Given the description of an element on the screen output the (x, y) to click on. 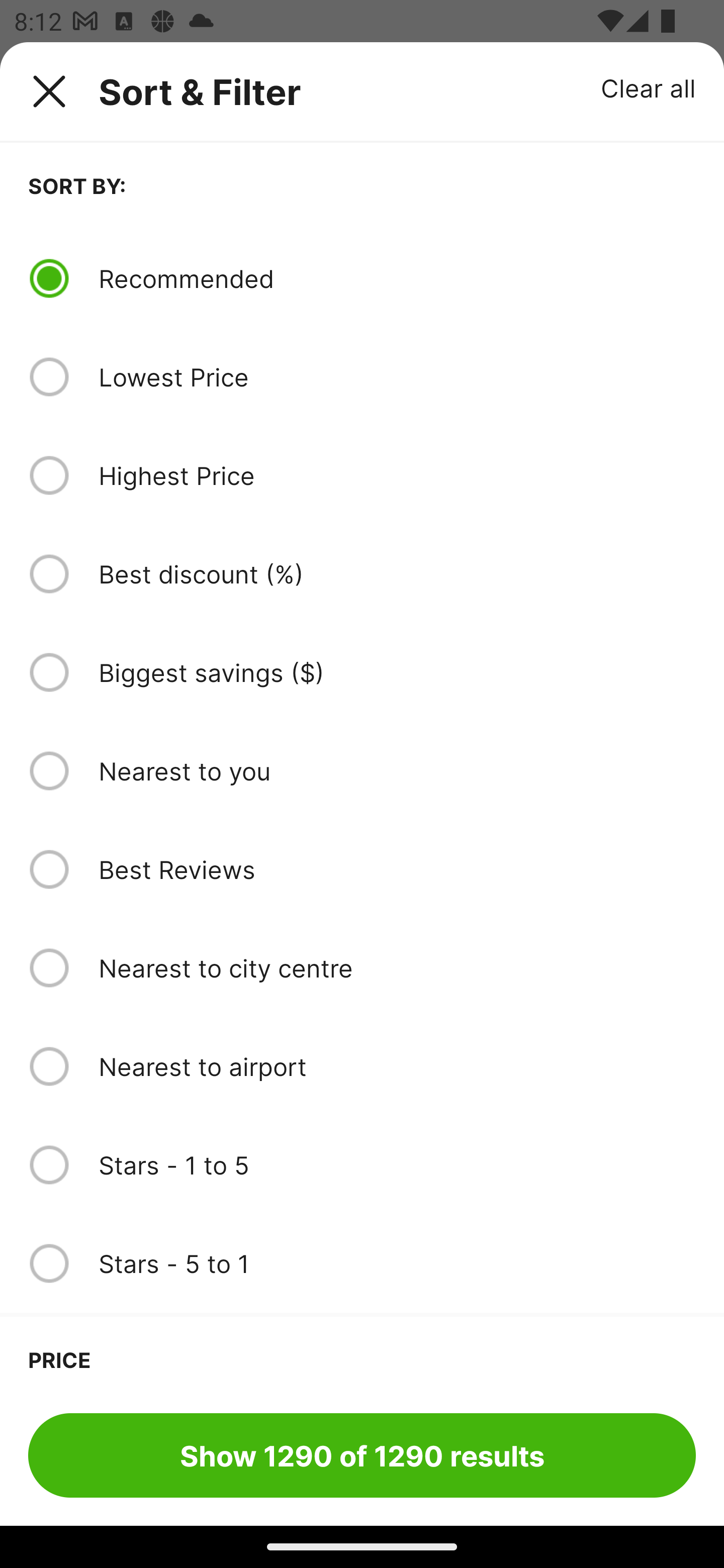
Clear all (648, 87)
Recommended  (396, 278)
Lowest Price (396, 377)
Highest Price (396, 474)
Best discount (%) (396, 573)
Biggest savings ($) (396, 672)
Nearest to you (396, 770)
Best Reviews (396, 869)
Nearest to city centre (396, 968)
Nearest to airport (396, 1065)
Stars - 1 to 5 (396, 1164)
Stars - 5 to 1 (396, 1263)
Show 1290 of 1290 results (361, 1454)
